Given the description of an element on the screen output the (x, y) to click on. 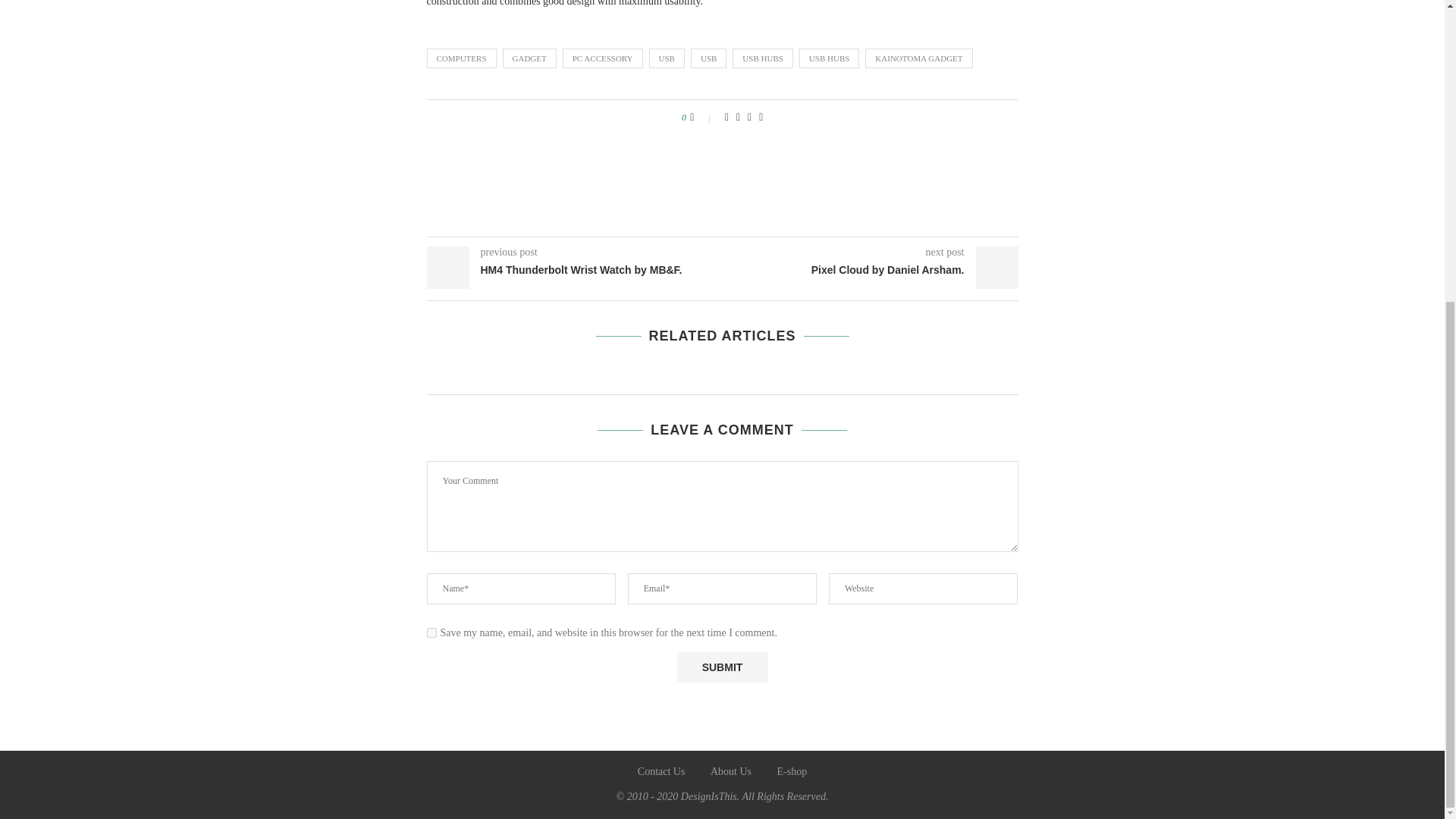
yes (430, 633)
Submit (722, 666)
Like (702, 117)
